Given the description of an element on the screen output the (x, y) to click on. 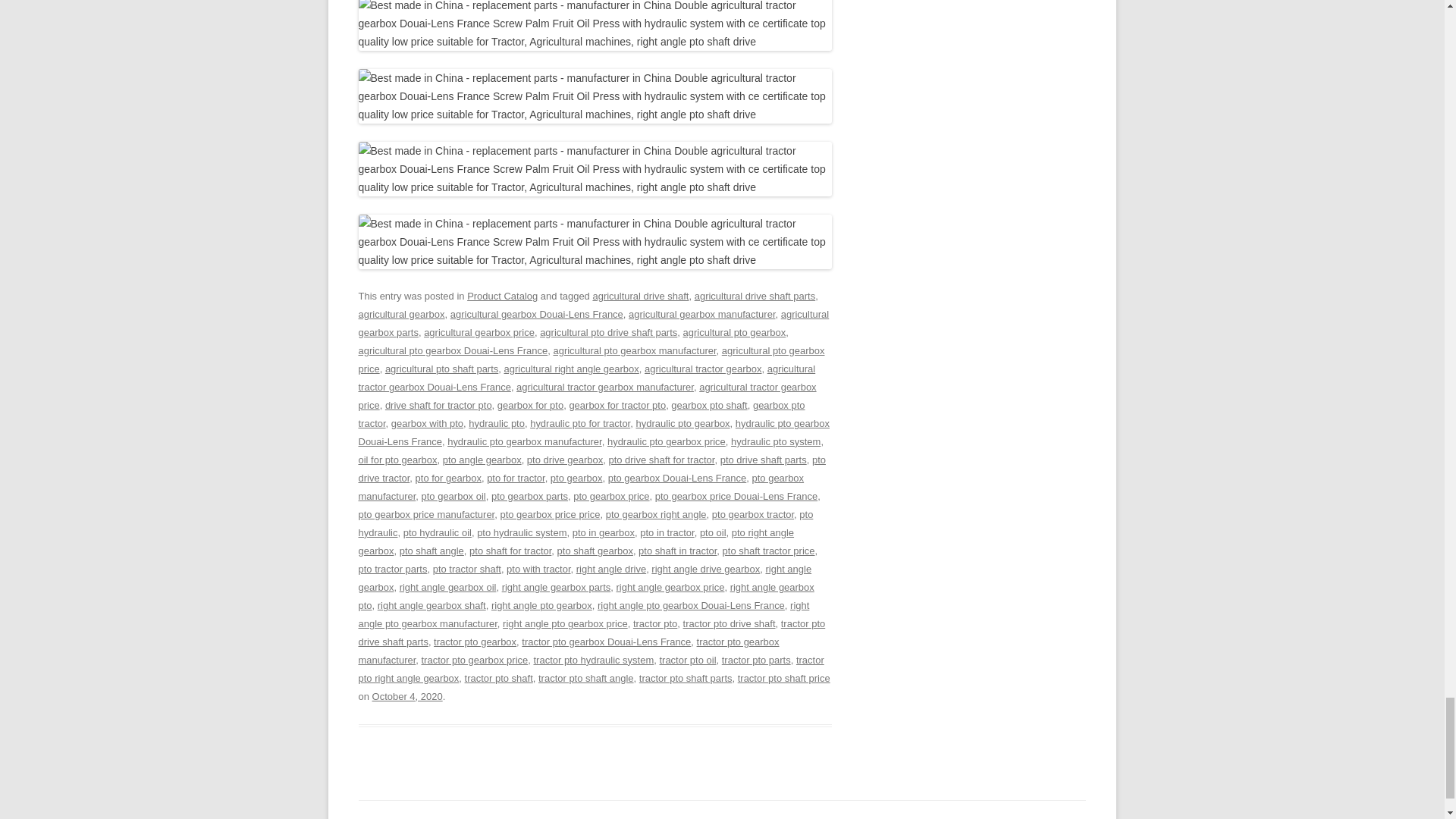
2:02 pm (407, 696)
